Given the description of an element on the screen output the (x, y) to click on. 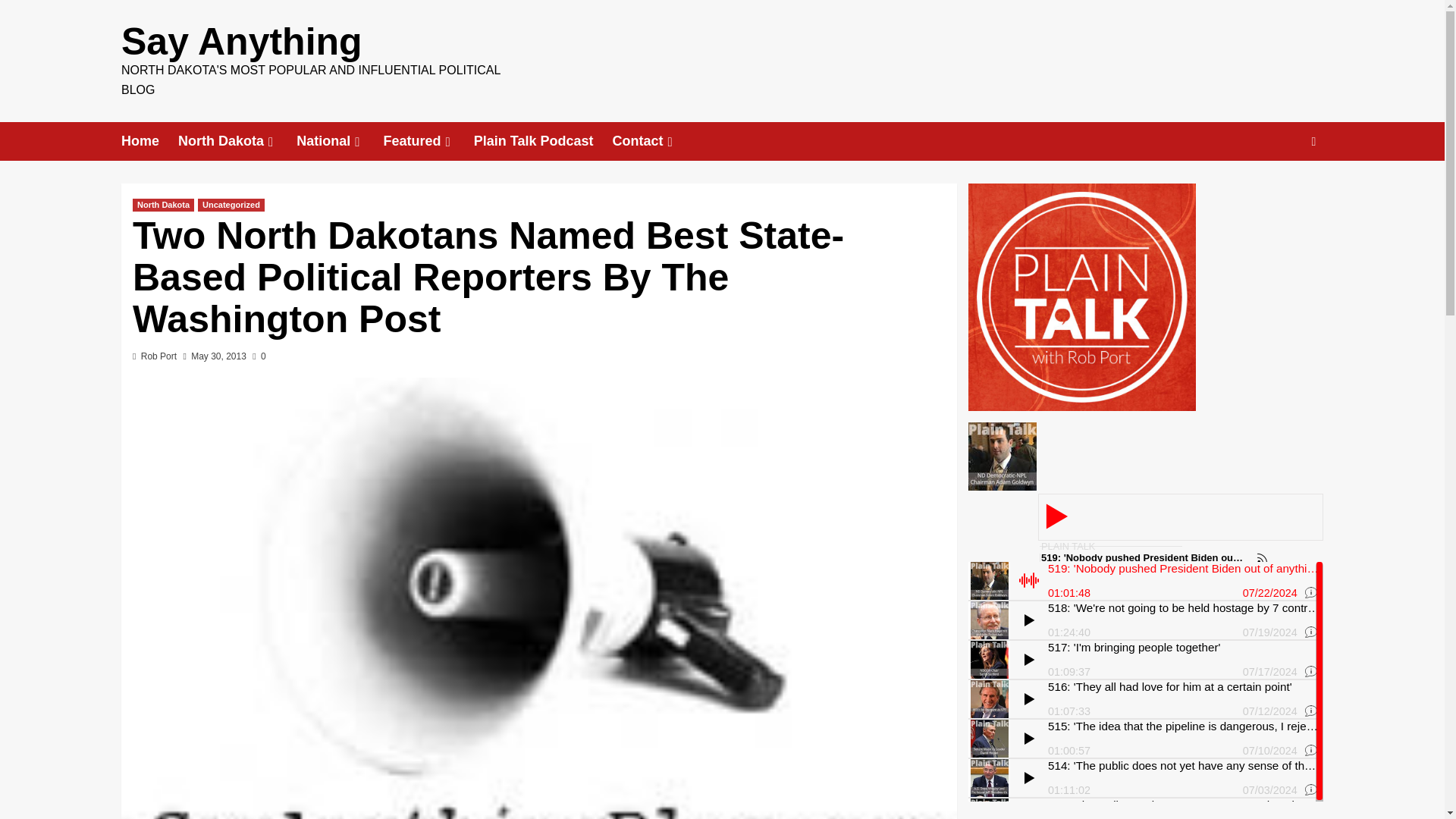
National (339, 141)
Rob Port (158, 356)
Featured (427, 141)
Say Anything (241, 41)
Contact (653, 141)
May 30, 2013 (218, 356)
North Dakota (237, 141)
Search (1278, 188)
Plain Talk Podcast (543, 141)
Home (148, 141)
Uncategorized (231, 205)
0 (257, 356)
North Dakota (162, 205)
